Given the description of an element on the screen output the (x, y) to click on. 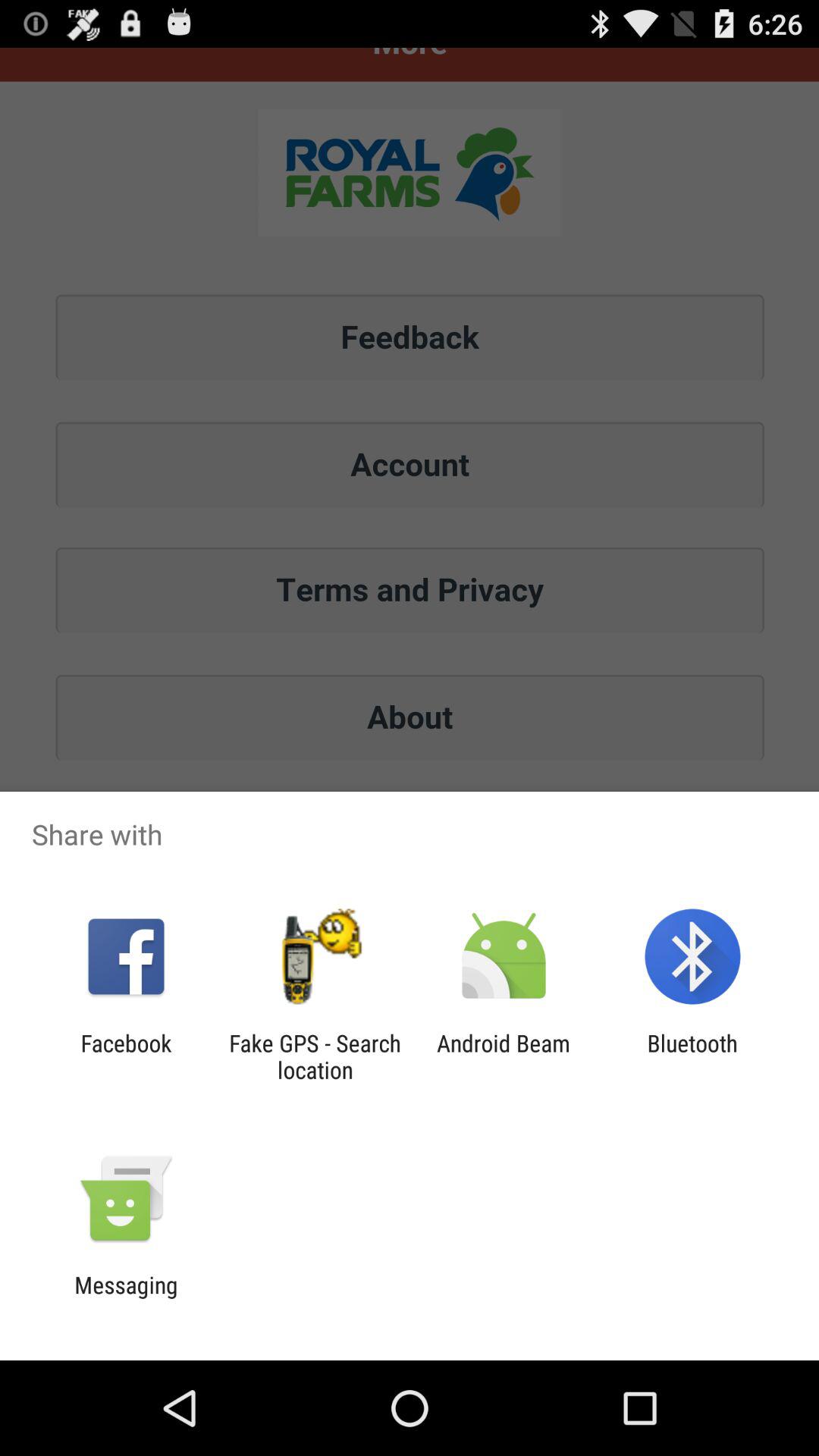
scroll to the bluetooth app (692, 1056)
